Given the description of an element on the screen output the (x, y) to click on. 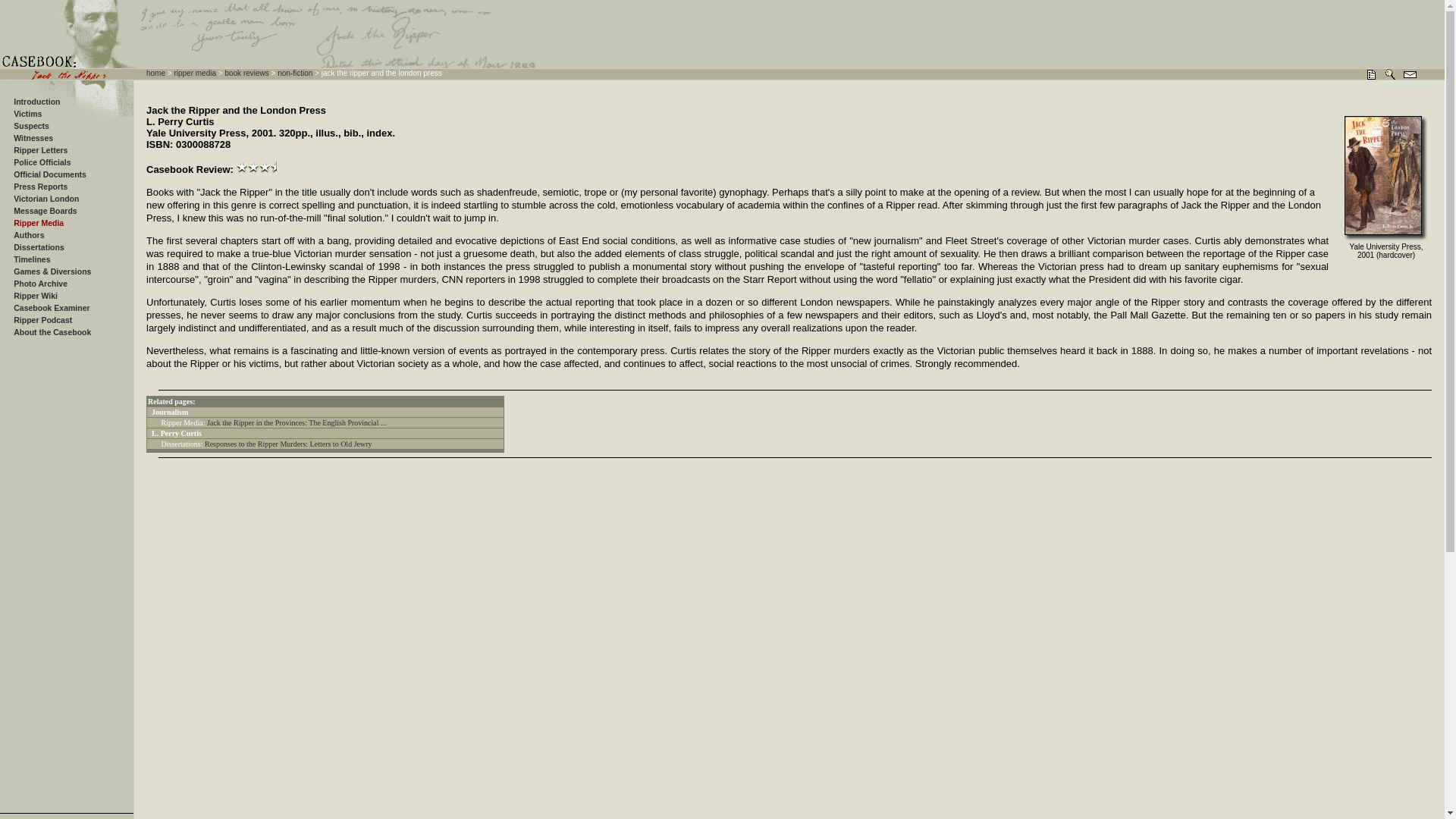
Victorian London (45, 198)
Press Reports (39, 185)
Witnesses (32, 137)
Ripper Podcast (42, 319)
Message Boards (45, 210)
ripper media (194, 72)
Official Documents (49, 174)
Police Officials (41, 162)
About the Casebook (51, 331)
home (156, 72)
Casebook Examiner (50, 307)
Ripper Letters (39, 149)
Ripper Wiki (35, 295)
Timelines (31, 258)
book reviews (245, 72)
